Given the description of an element on the screen output the (x, y) to click on. 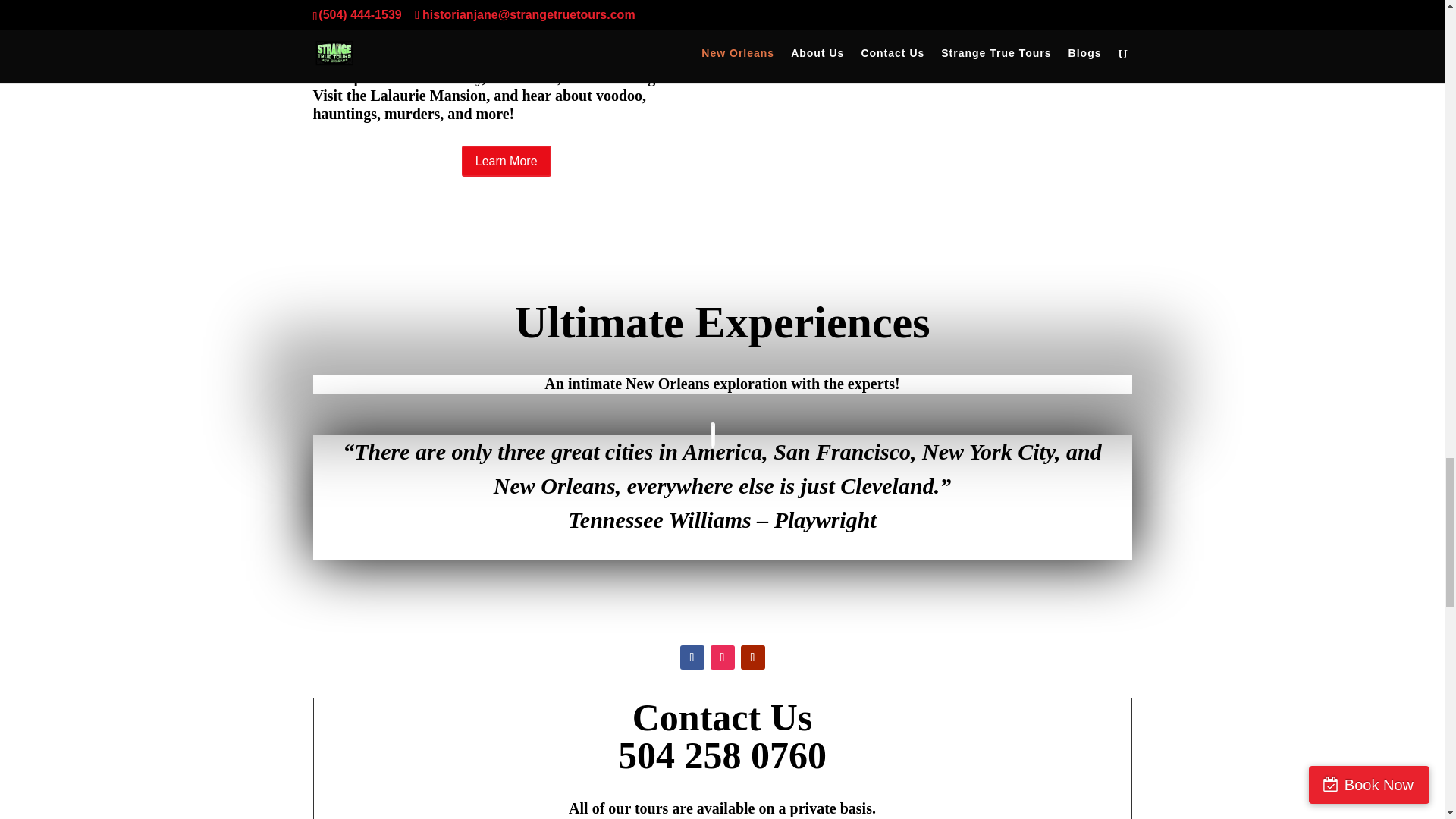
Follow on Instagram (721, 657)
Follow on Youtube (751, 657)
Follow on Facebook (691, 657)
Learn More (506, 160)
